Given the description of an element on the screen output the (x, y) to click on. 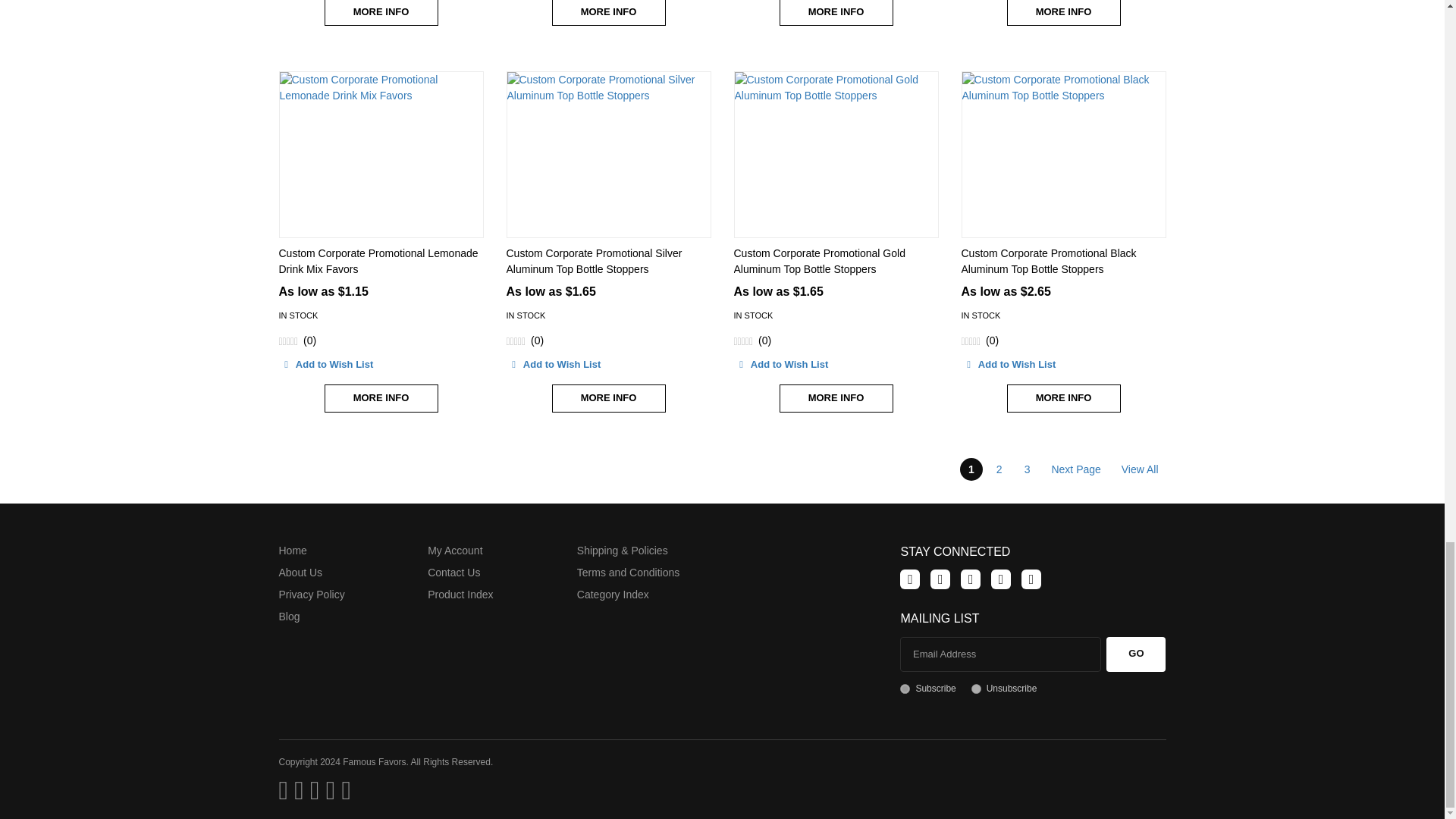
Follow Us on Twitter (940, 578)
Subscribe to our Channel (969, 578)
Follow Us on Pinterest (1000, 578)
Like Us on Facebook (909, 578)
0 (976, 688)
Follow Us on Instagram (1031, 578)
1 (904, 688)
